Given the description of an element on the screen output the (x, y) to click on. 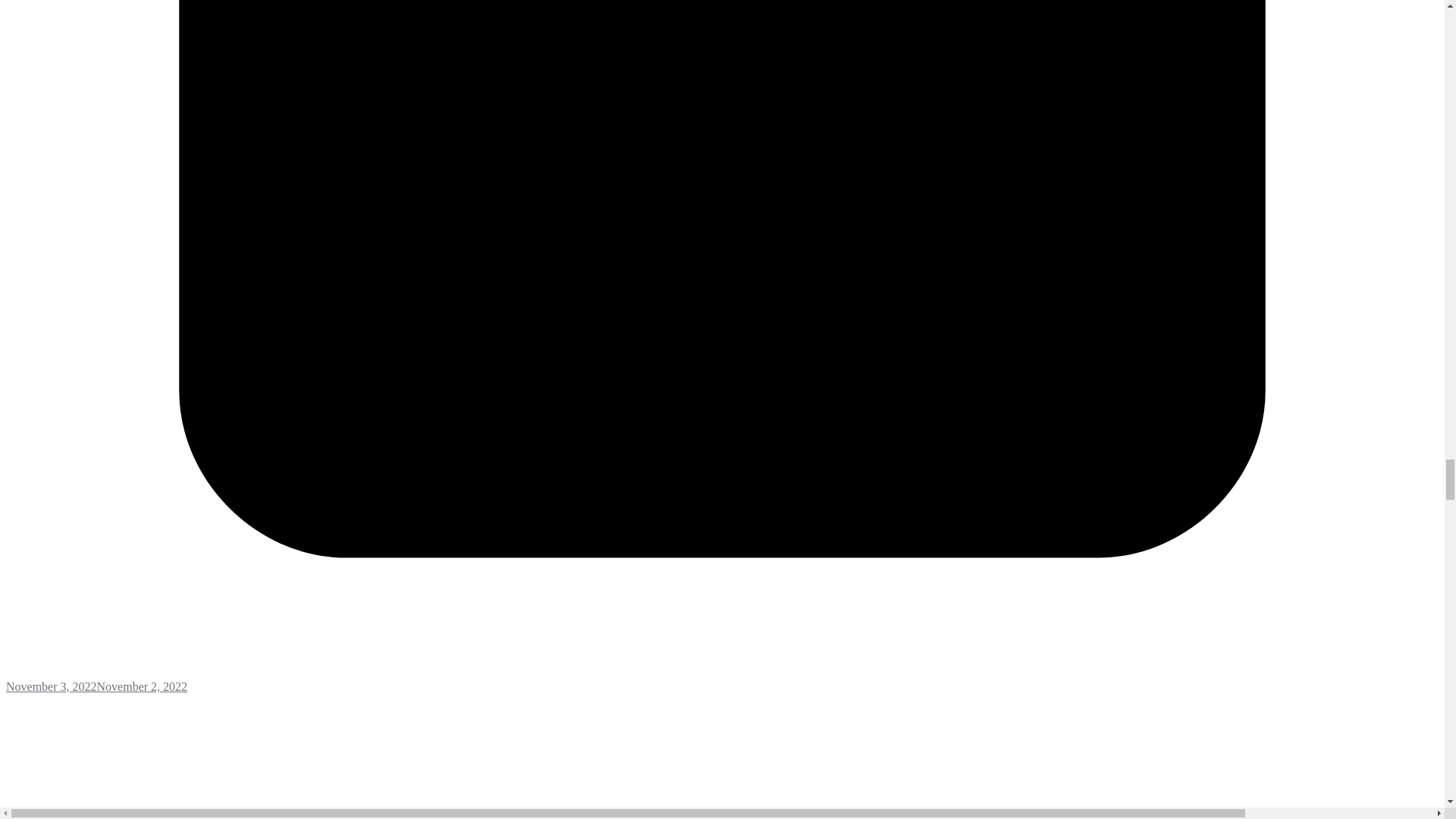
1:02 pm (721, 679)
